Given the description of an element on the screen output the (x, y) to click on. 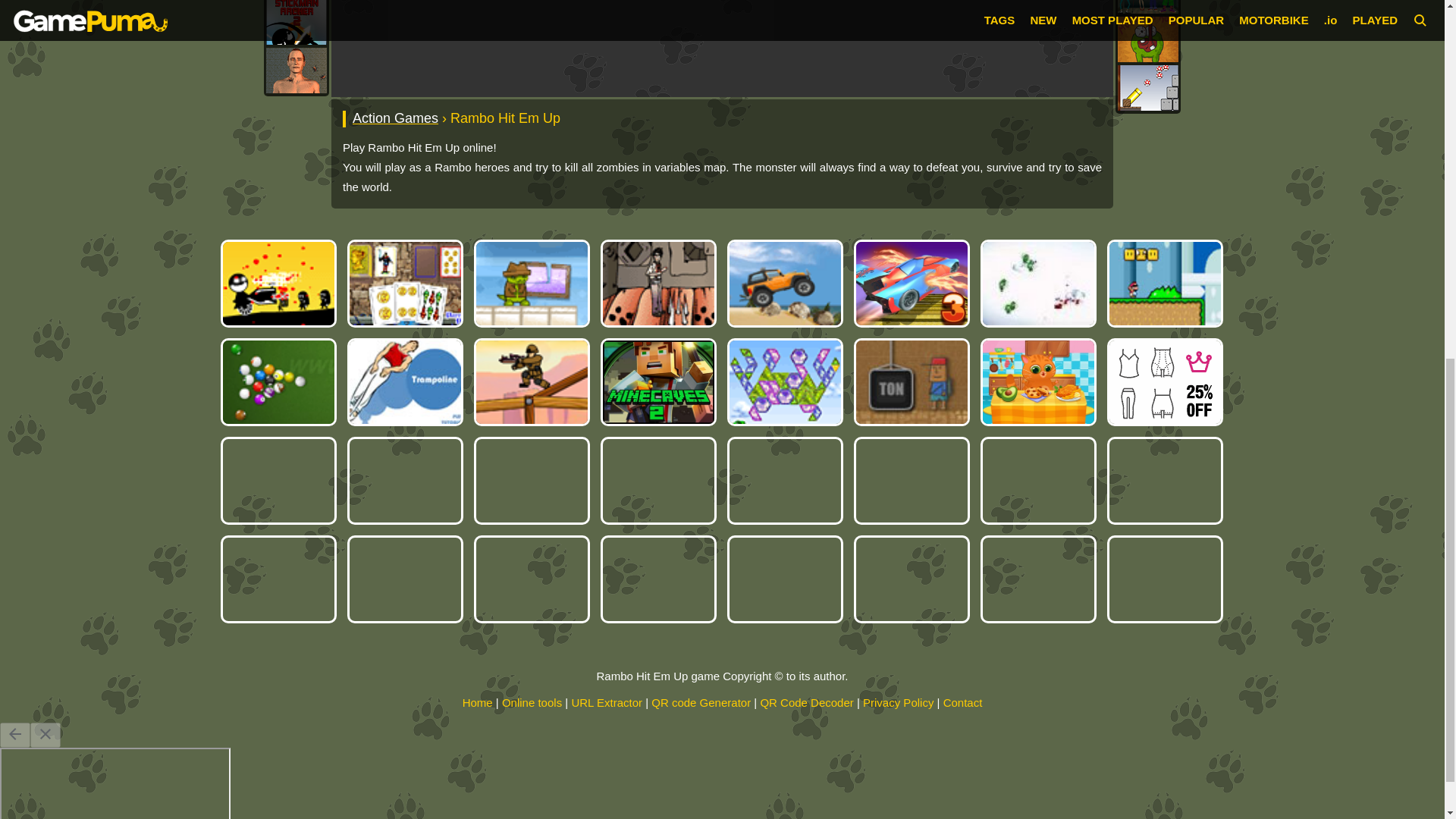
Action Games (395, 118)
Cockroach Dream (296, 70)
Stickman Archer 2 (296, 22)
